Given the description of an element on the screen output the (x, y) to click on. 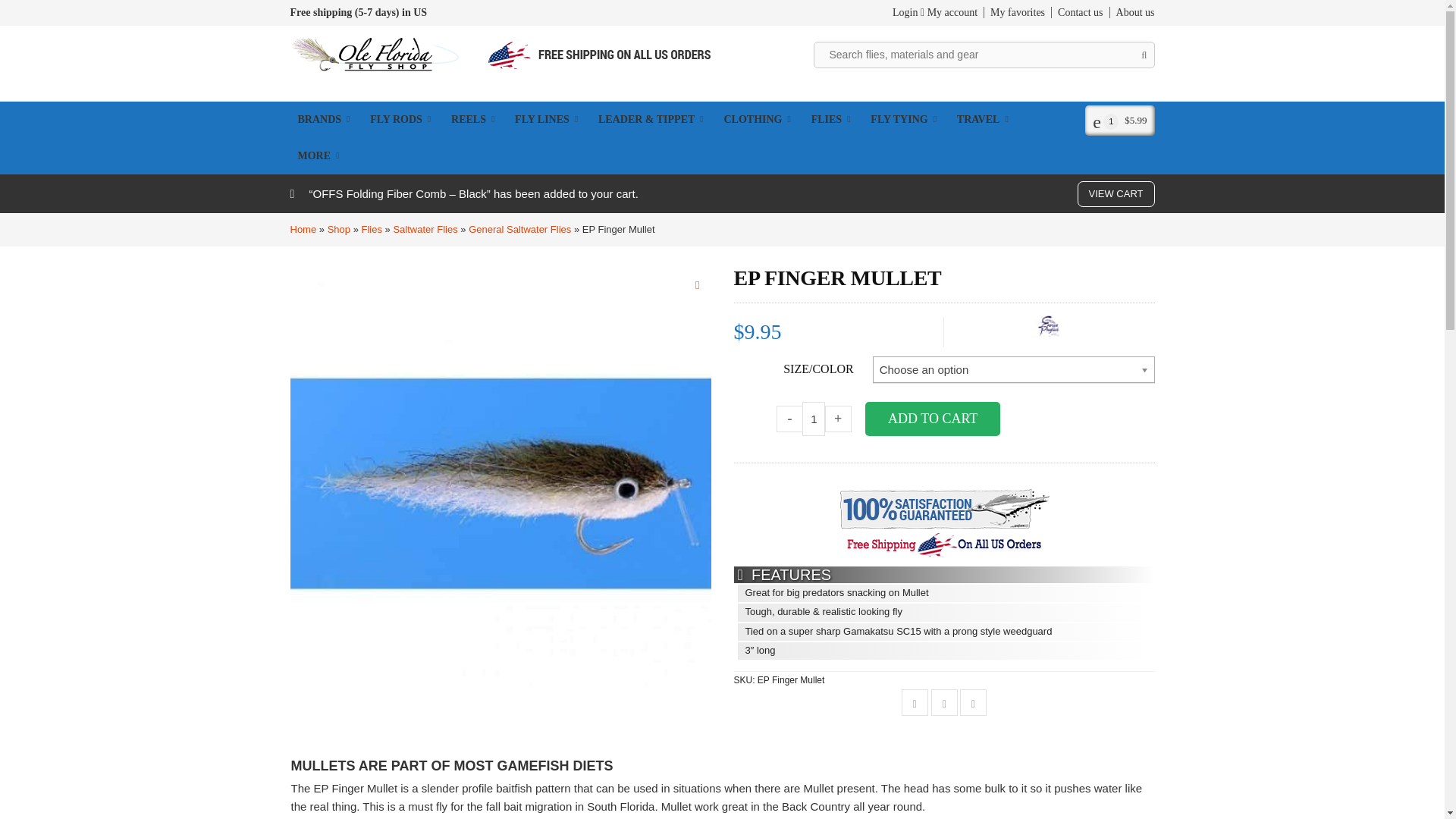
View your shopping cart (1120, 120)
- (789, 418)
My favorites (1014, 12)
About us (1131, 12)
BRANDS (324, 119)
Login My account (934, 12)
Contact us (1077, 12)
